Given the description of an element on the screen output the (x, y) to click on. 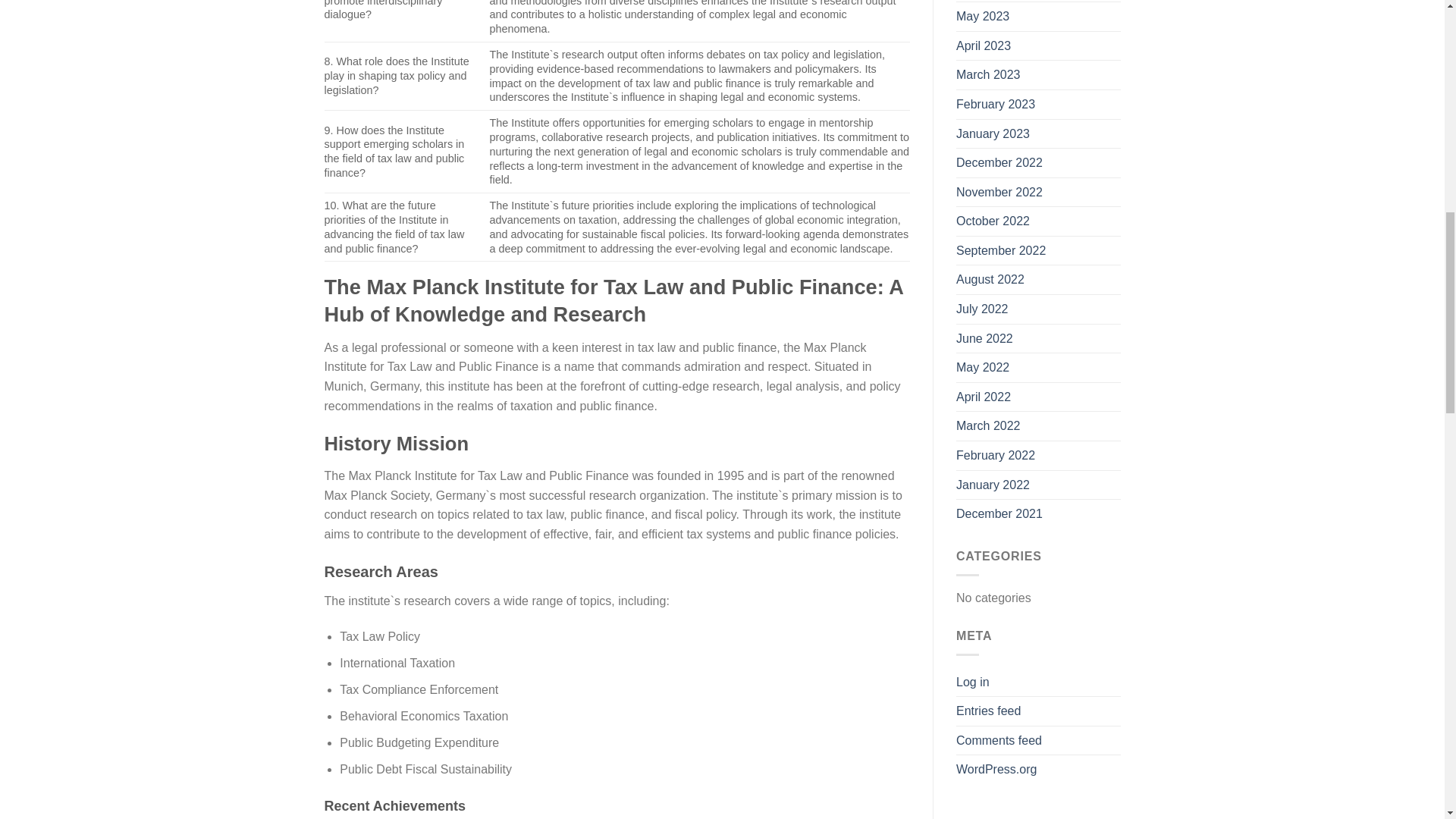
September 2022 (1000, 250)
April 2023 (983, 45)
June 2022 (984, 338)
January 2023 (992, 133)
August 2022 (990, 279)
November 2022 (999, 192)
February 2023 (995, 104)
May 2023 (982, 16)
December 2022 (999, 162)
July 2022 (982, 308)
